Given the description of an element on the screen output the (x, y) to click on. 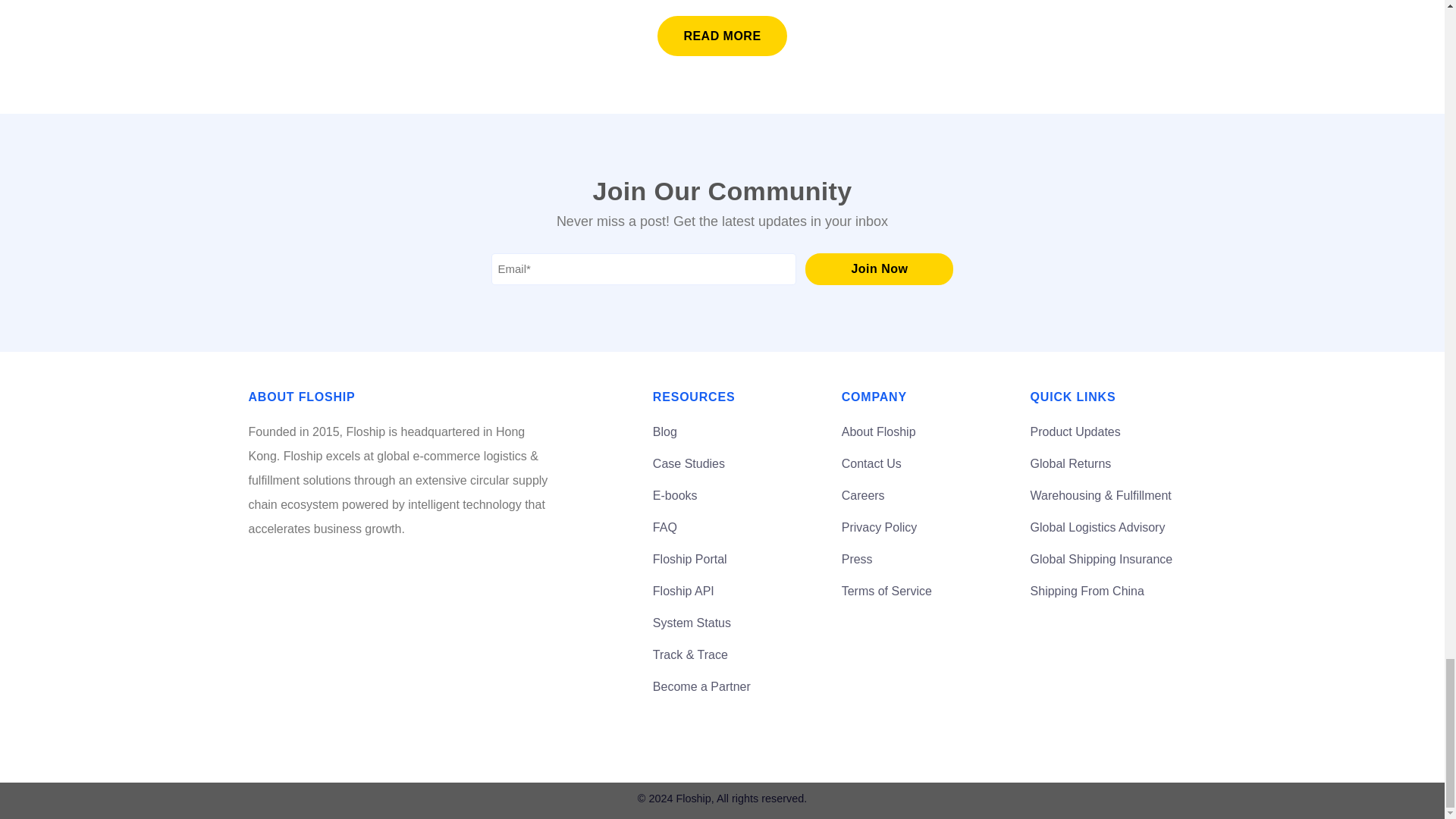
Join Now (879, 269)
